Given the description of an element on the screen output the (x, y) to click on. 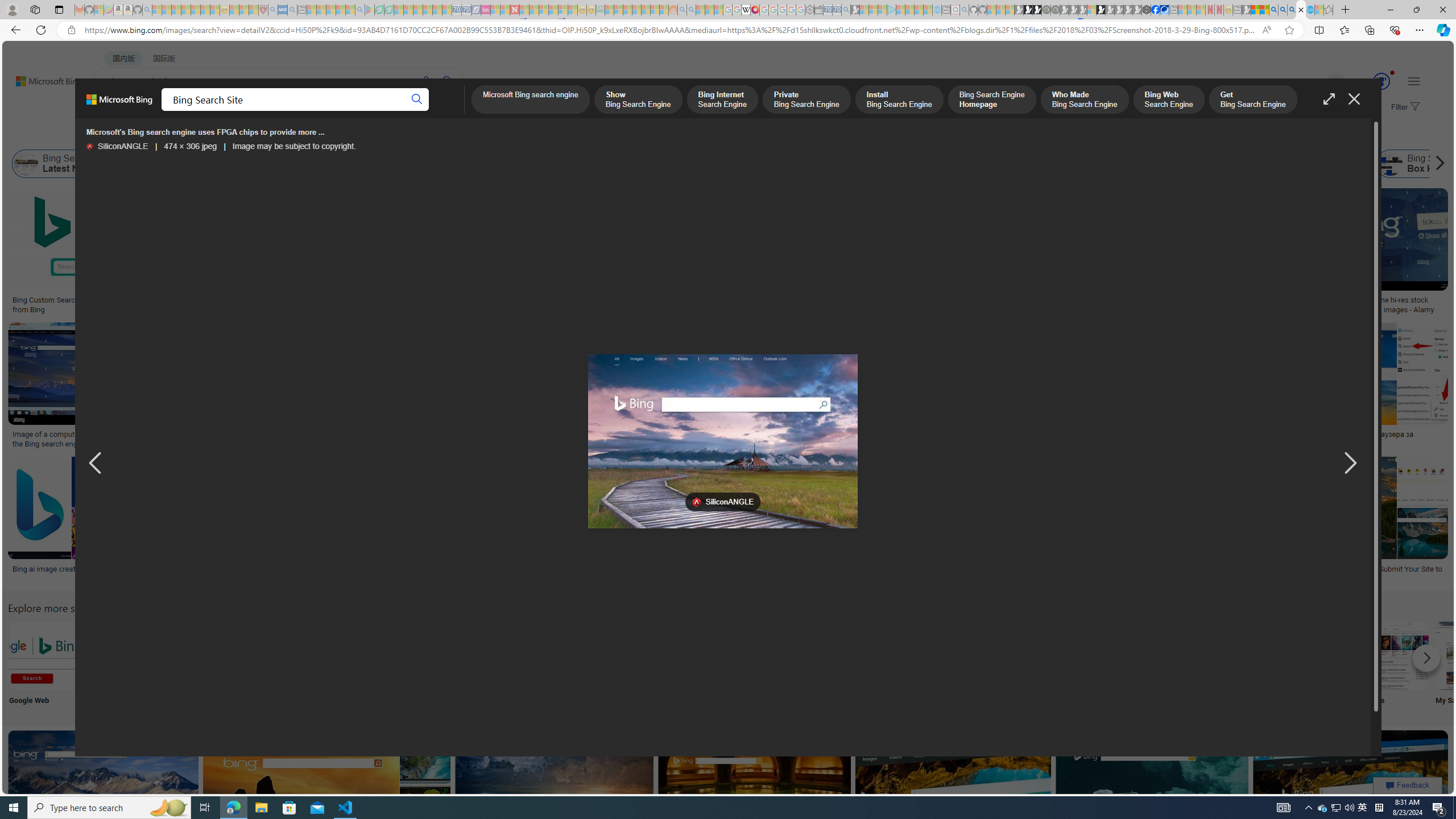
Movies (1393, 665)
Bing Search Latest News (25, 163)
Top 10 Search engine | REALITYPOD - Part 3 (925, 434)
IMAGES (205, 112)
google - Search - Sleeping (359, 9)
Bing Advanced Search Tricks You Should Know (457, 299)
Microsoft-Report a Concern to Bing - Sleeping (98, 9)
utah sues federal government - Search - Sleeping (291, 9)
Download Bing Pictures | Wallpapers.comSave (614, 387)
Microsoft Edge (268, 665)
Bing Photo Search Microsoft Edge (268, 654)
BingSave (369, 521)
